Given the description of an element on the screen output the (x, y) to click on. 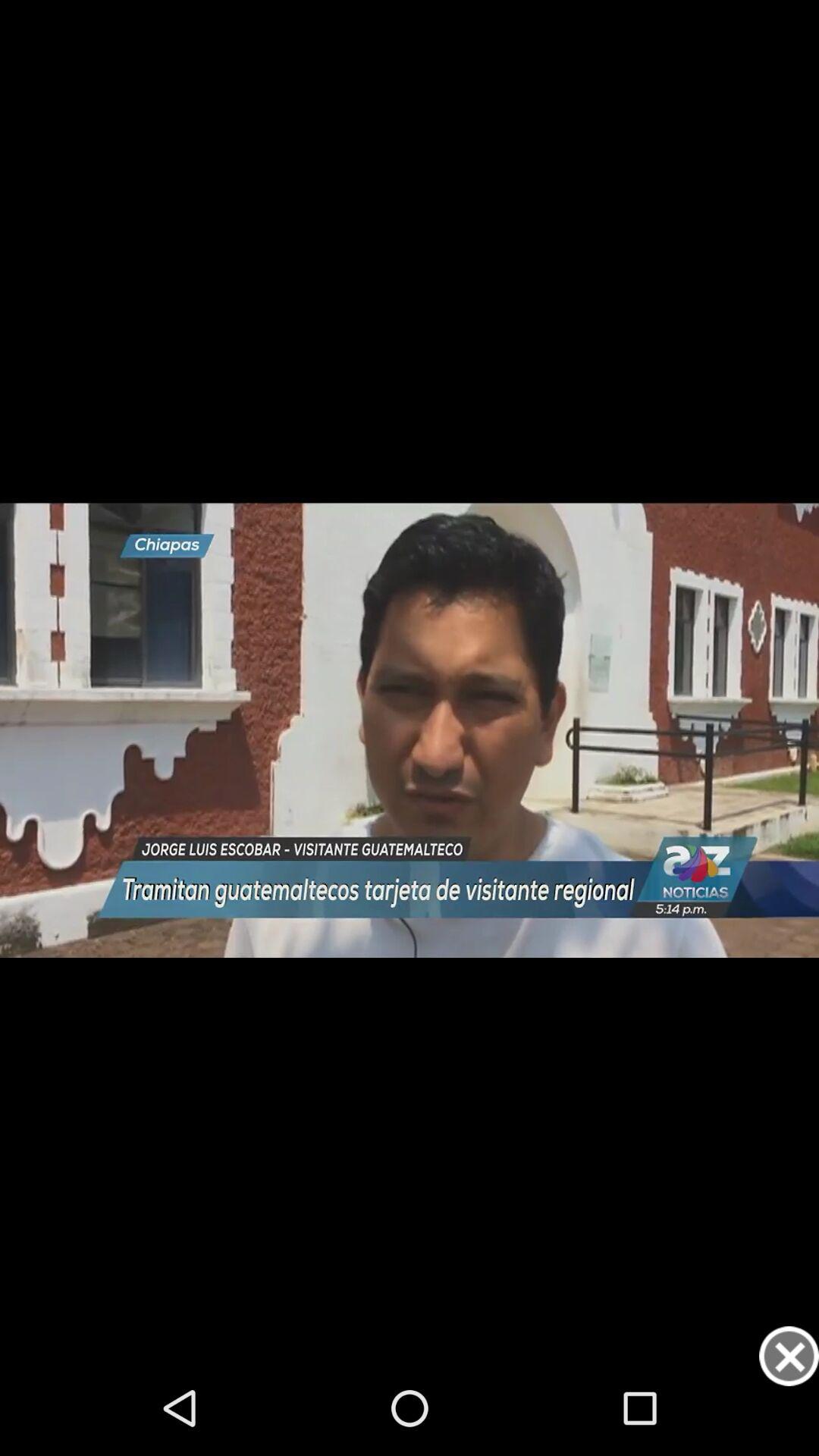
close option (789, 1356)
